Given the description of an element on the screen output the (x, y) to click on. 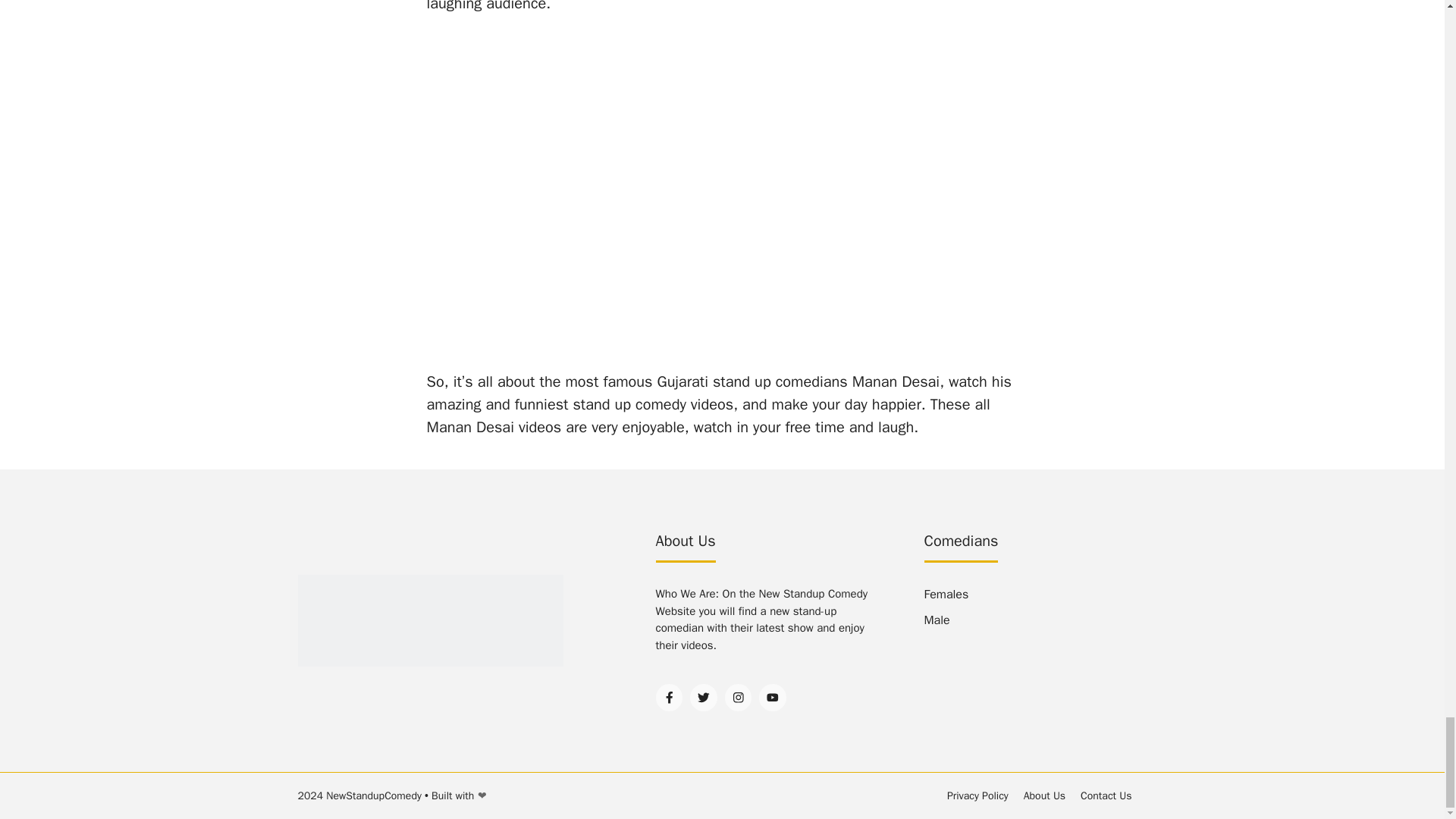
Privacy Policy (978, 795)
About Us (1044, 795)
Females (945, 594)
